Given the description of an element on the screen output the (x, y) to click on. 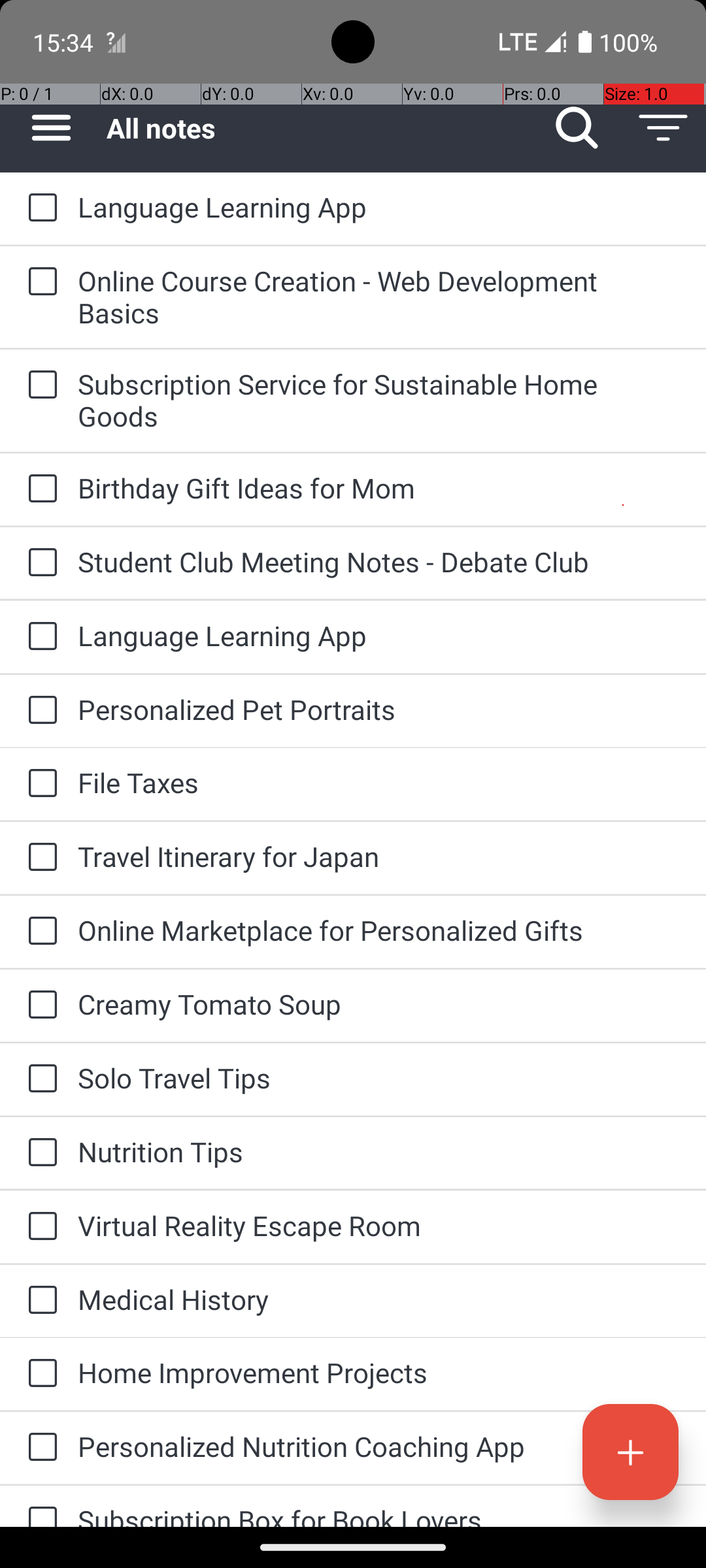
to-do: Language Learning App Element type: android.widget.CheckBox (38, 208)
Language Learning App Element type: android.widget.TextView (378, 206)
to-do: Online Course Creation - Web Development Basics Element type: android.widget.CheckBox (38, 282)
Online Course Creation - Web Development Basics Element type: android.widget.TextView (378, 296)
to-do: Subscription Service for Sustainable Home Goods Element type: android.widget.CheckBox (38, 385)
Subscription Service for Sustainable Home Goods Element type: android.widget.TextView (378, 399)
to-do: Birthday Gift Ideas for Mom Element type: android.widget.CheckBox (38, 489)
Birthday Gift Ideas for Mom Element type: android.widget.TextView (378, 487)
to-do: Student Club Meeting Notes - Debate Club Element type: android.widget.CheckBox (38, 563)
Student Club Meeting Notes - Debate Club Element type: android.widget.TextView (378, 561)
to-do: Personalized Pet Portraits Element type: android.widget.CheckBox (38, 710)
Personalized Pet Portraits Element type: android.widget.TextView (378, 708)
to-do: File Taxes Element type: android.widget.CheckBox (38, 783)
File Taxes Element type: android.widget.TextView (378, 781)
to-do: Travel Itinerary for Japan Element type: android.widget.CheckBox (38, 857)
Travel Itinerary for Japan Element type: android.widget.TextView (378, 855)
to-do: Online Marketplace for Personalized Gifts Element type: android.widget.CheckBox (38, 931)
Online Marketplace for Personalized Gifts Element type: android.widget.TextView (378, 929)
to-do: Creamy Tomato Soup Element type: android.widget.CheckBox (38, 1005)
Creamy Tomato Soup Element type: android.widget.TextView (378, 1003)
to-do: Solo Travel Tips Element type: android.widget.CheckBox (38, 1079)
Solo Travel Tips Element type: android.widget.TextView (378, 1077)
to-do: Nutrition Tips Element type: android.widget.CheckBox (38, 1153)
Nutrition Tips Element type: android.widget.TextView (378, 1151)
to-do: Virtual Reality Escape Room Element type: android.widget.CheckBox (38, 1227)
Virtual Reality Escape Room Element type: android.widget.TextView (378, 1224)
to-do: Medical History Element type: android.widget.CheckBox (38, 1300)
Medical History Element type: android.widget.TextView (378, 1298)
to-do: Home Improvement Projects Element type: android.widget.CheckBox (38, 1373)
Home Improvement Projects Element type: android.widget.TextView (378, 1371)
to-do: Personalized Nutrition Coaching App Element type: android.widget.CheckBox (38, 1447)
Personalized Nutrition Coaching App Element type: android.widget.TextView (378, 1445)
to-do: Subscription Box for Book Lovers Element type: android.widget.CheckBox (38, 1505)
Subscription Box for Book Lovers Element type: android.widget.TextView (378, 1513)
